Given the description of an element on the screen output the (x, y) to click on. 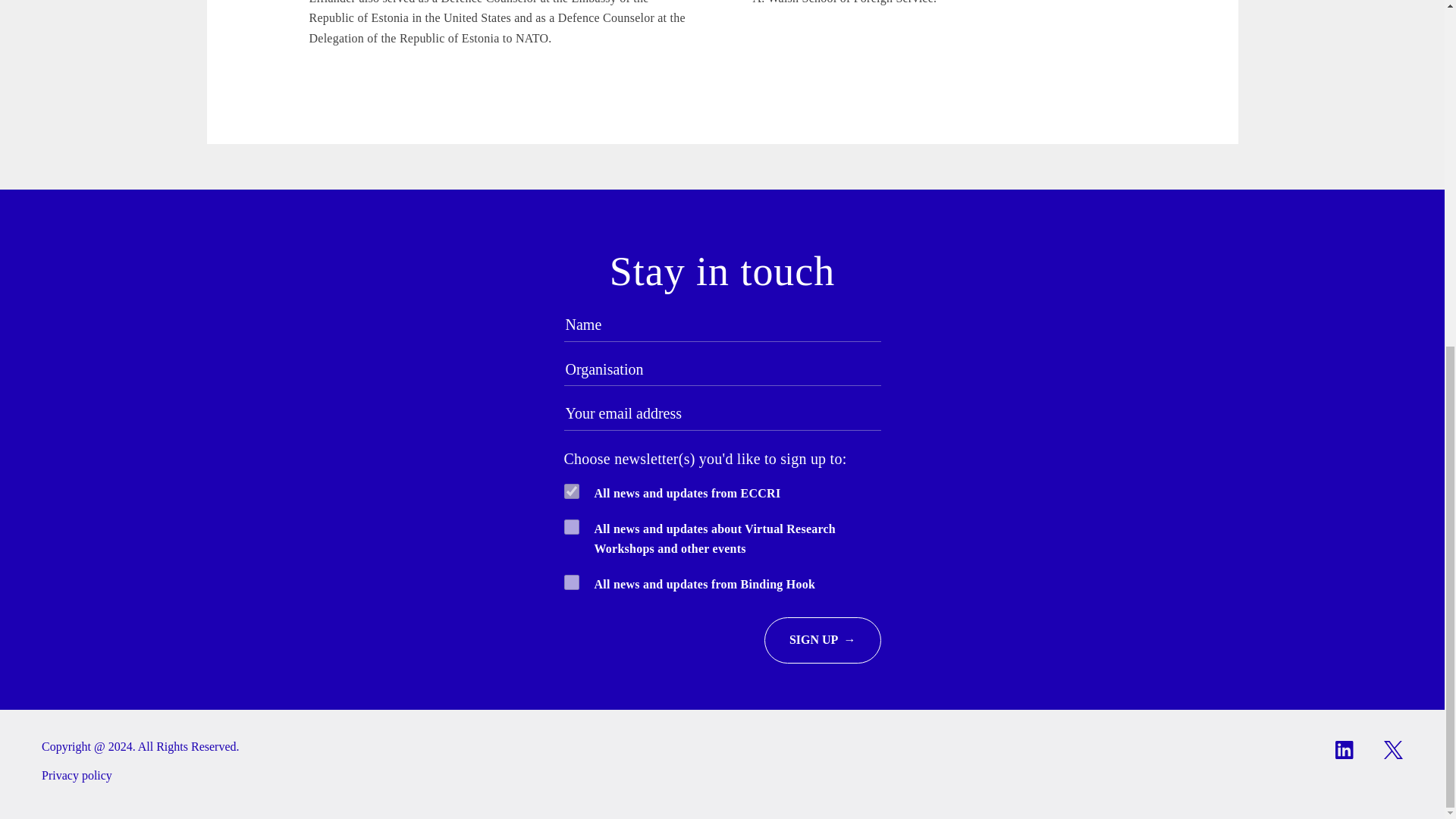
bcfdcbac69 (571, 491)
5d07b1b5da (571, 581)
Privacy policy (77, 775)
ccdb3740c1 (571, 526)
